Given the description of an element on the screen output the (x, y) to click on. 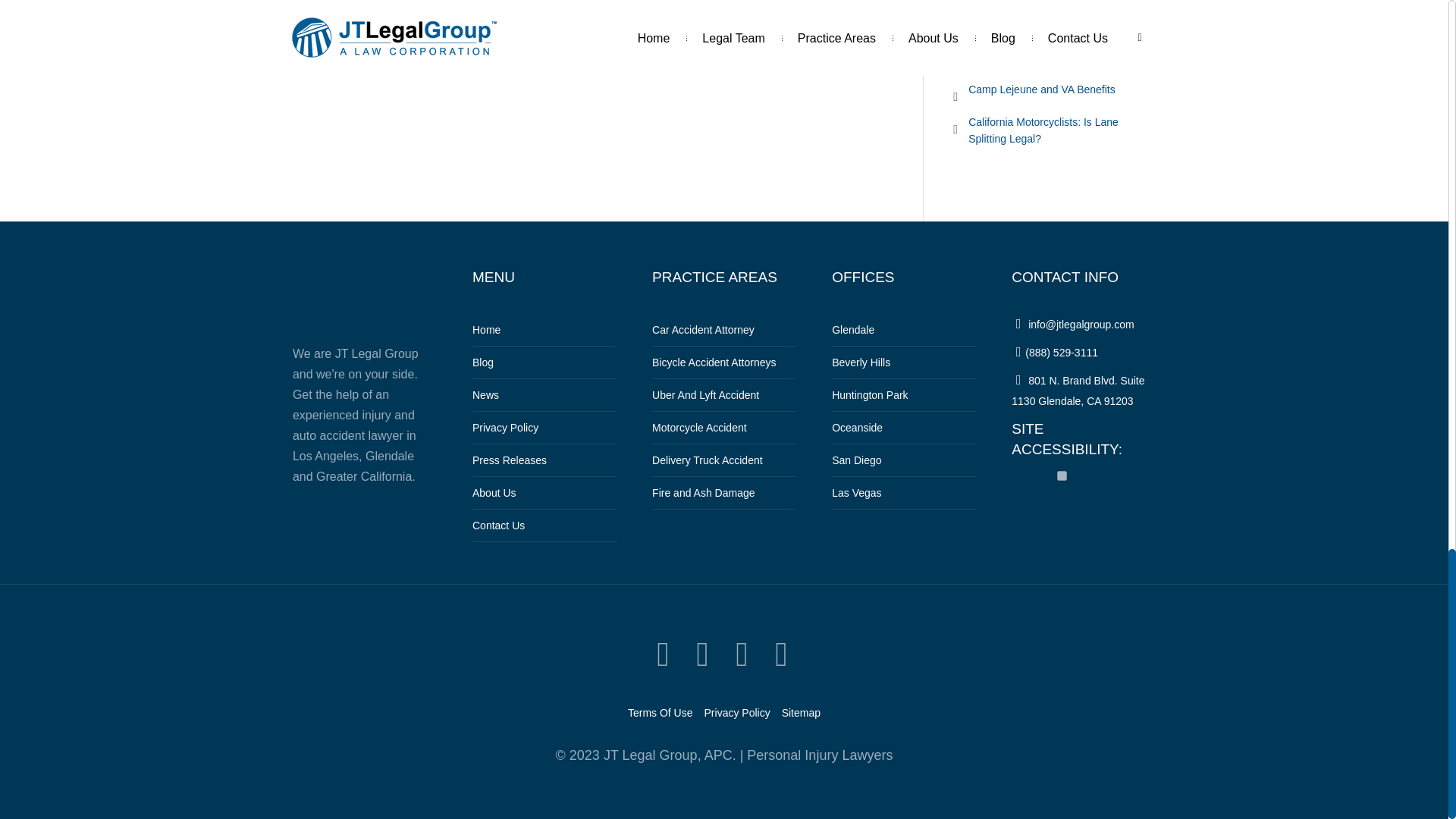
on (1062, 475)
linkedin (741, 654)
Skype (780, 654)
Facebook (702, 654)
Twitter (662, 654)
